Given the description of an element on the screen output the (x, y) to click on. 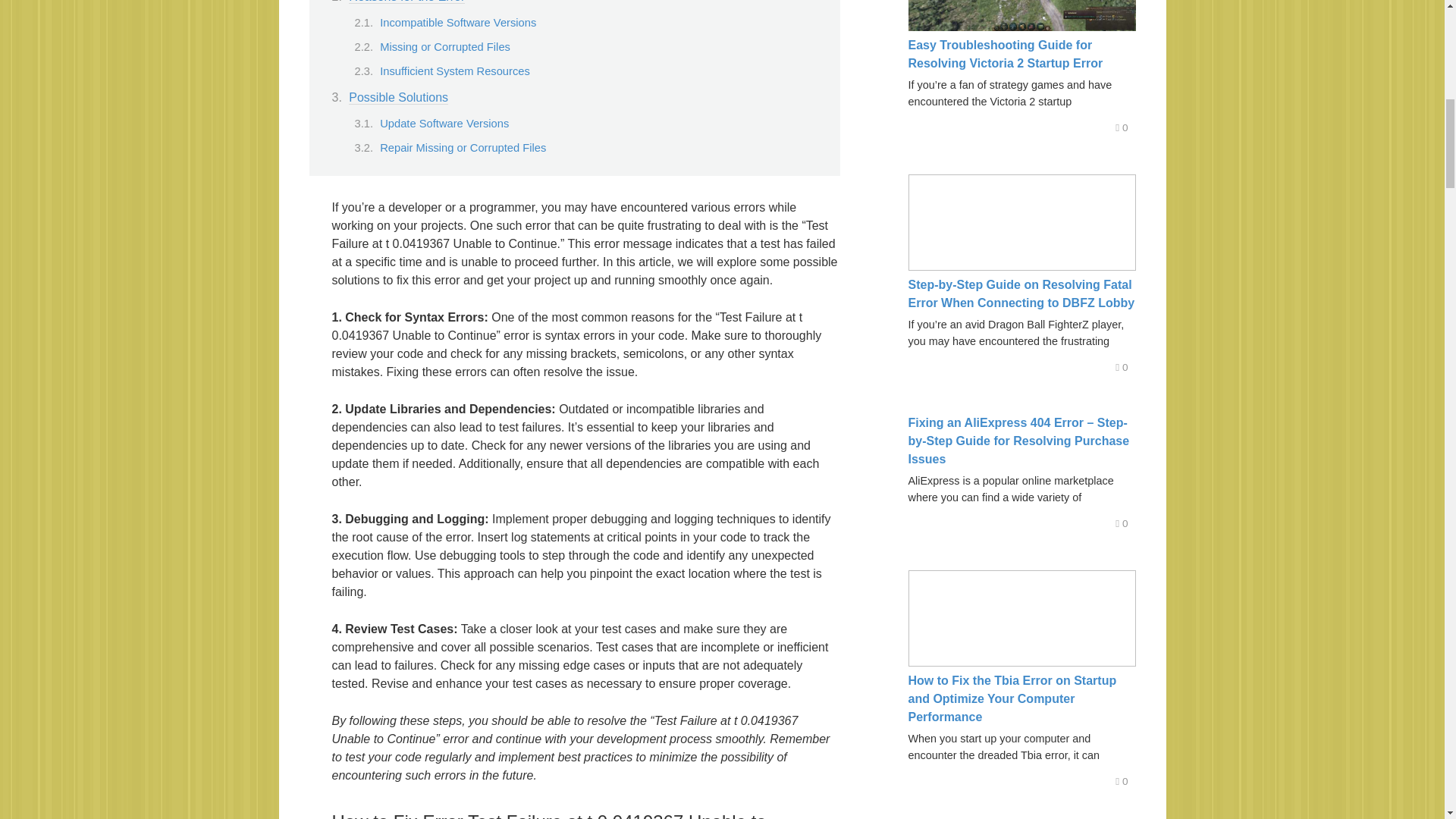
Possible Solutions (398, 97)
Update Software Versions (444, 123)
Repair Missing or Corrupted Files (463, 147)
Reasons for the Error (406, 2)
Missing or Corrupted Files (445, 46)
Incompatible Software Versions (457, 22)
Insufficient System Resources (454, 70)
Comments (1120, 127)
